Given the description of an element on the screen output the (x, y) to click on. 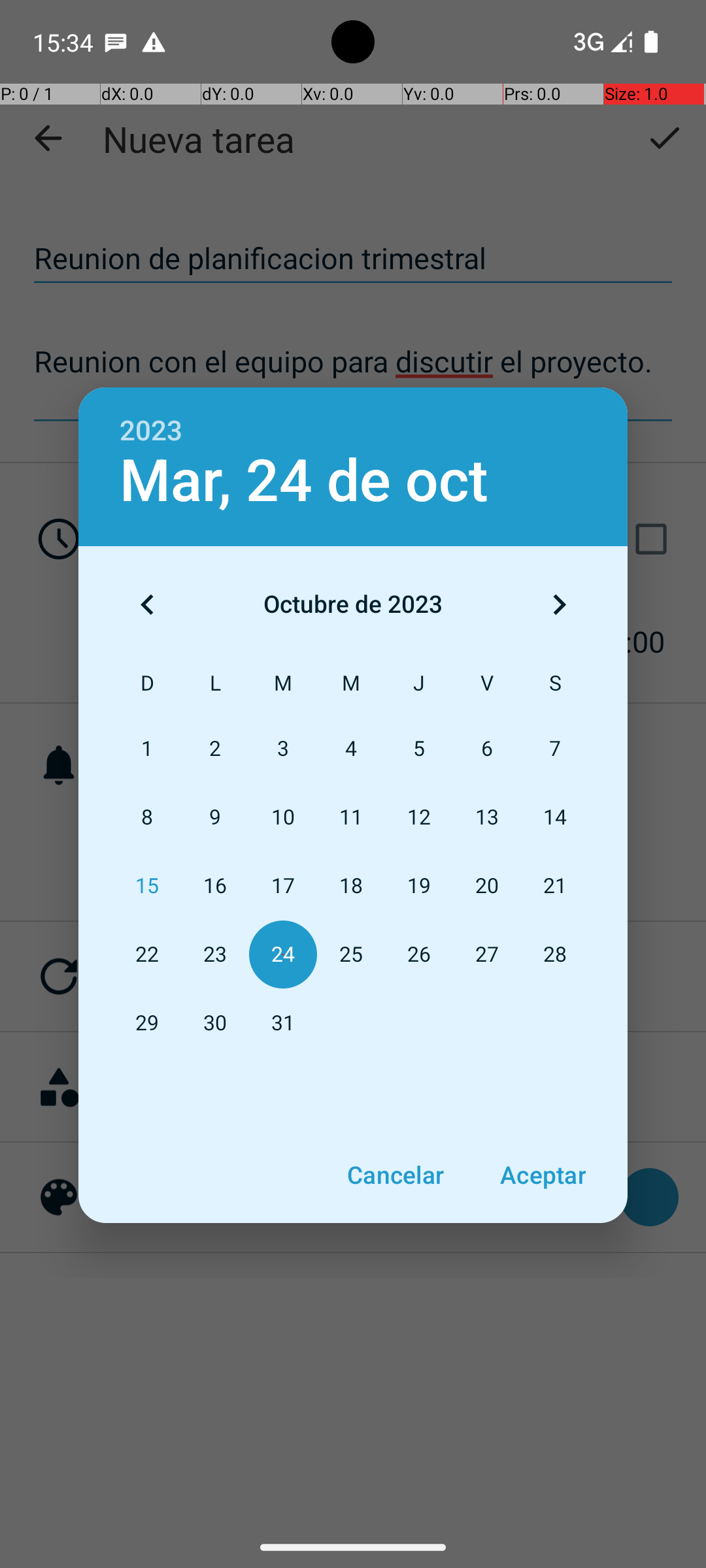
Mar, 24 de oct Element type: android.widget.TextView (303, 480)
Mes anterior Element type: android.widget.ImageButton (146, 604)
Mes siguiente Element type: android.widget.ImageButton (558, 604)
Cancelar Element type: android.widget.Button (394, 1174)
Aceptar Element type: android.widget.Button (542, 1174)
